Given the description of an element on the screen output the (x, y) to click on. 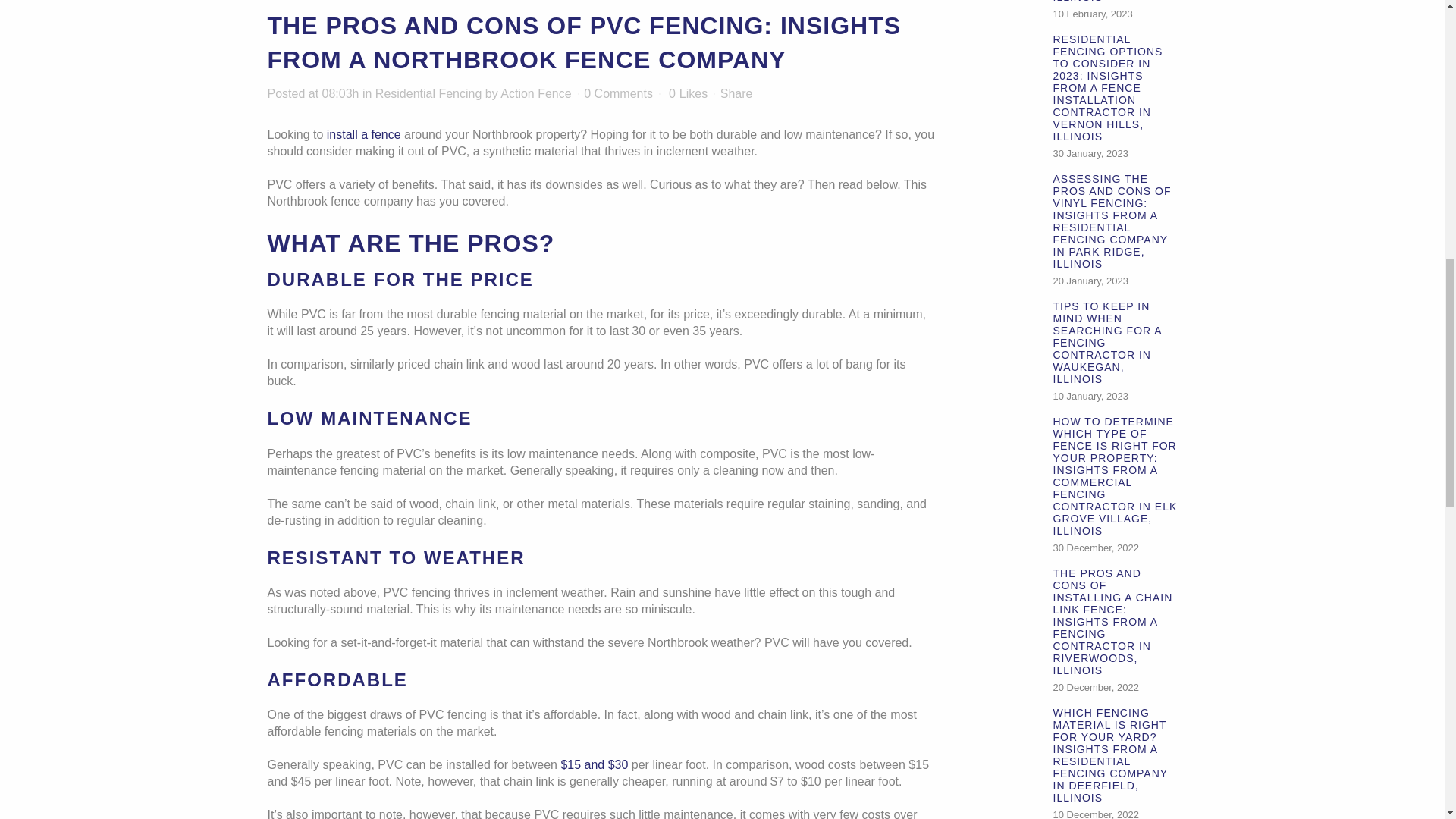
Share (736, 92)
Action Fence (535, 92)
0 Likes (687, 93)
Residential Fencing (428, 92)
install a fence (363, 133)
Like this (687, 93)
0 Comments (617, 92)
